Given the description of an element on the screen output the (x, y) to click on. 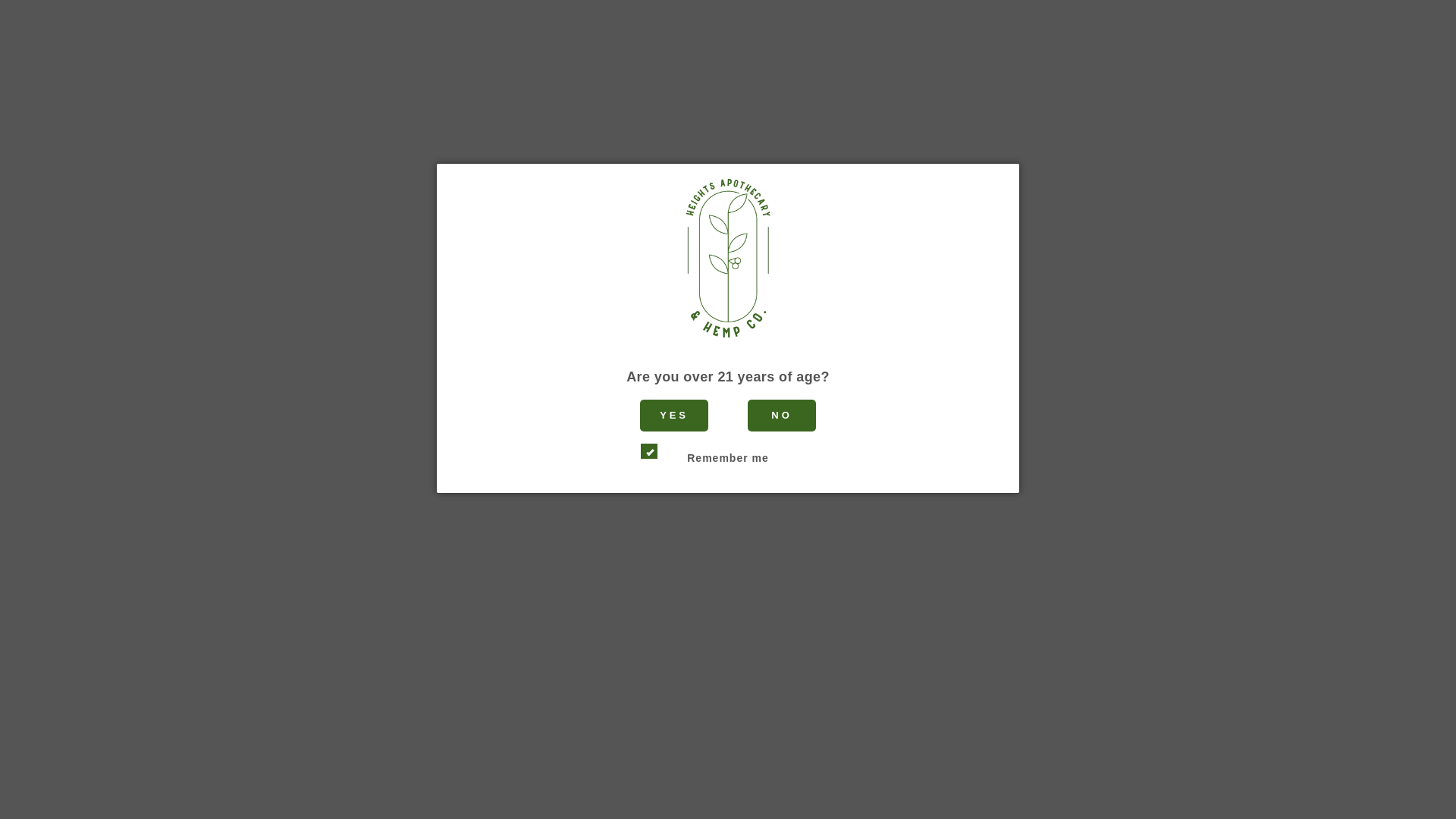
Mastercard (785, 700)
American Express (631, 700)
Diners Club (670, 700)
Visa (823, 700)
Discover (708, 700)
JCB (746, 700)
